Given the description of an element on the screen output the (x, y) to click on. 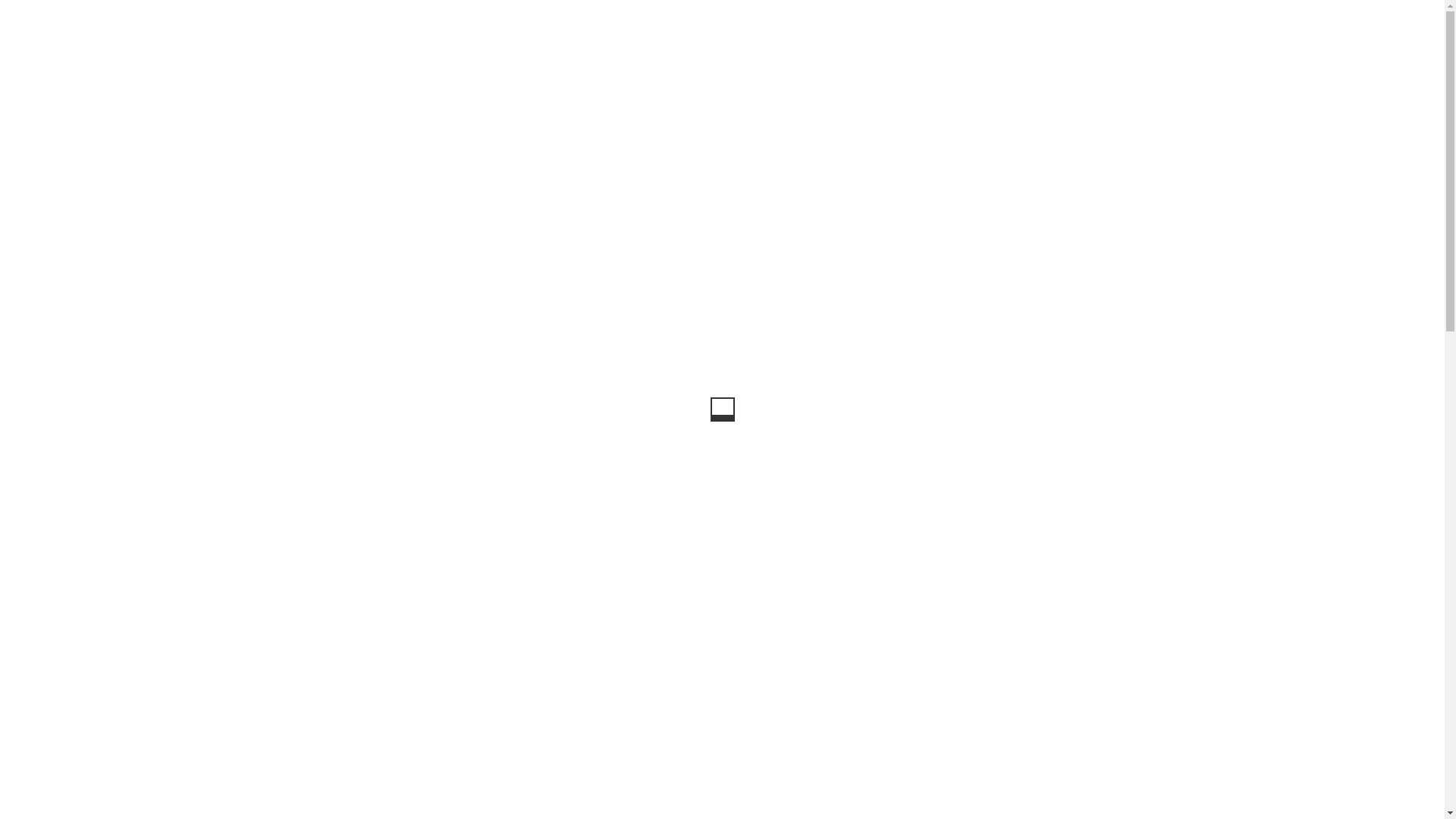
Twitter Element type: text (343, 606)
Pinterest Element type: text (509, 606)
Portfolio Element type: text (287, 122)
About Us Element type: text (1335, 46)
LinkedIn Element type: text (595, 606)
Home Element type: text (243, 122)
Facebook Element type: text (260, 604)
Google+ Element type: text (425, 606)
